Given the description of an element on the screen output the (x, y) to click on. 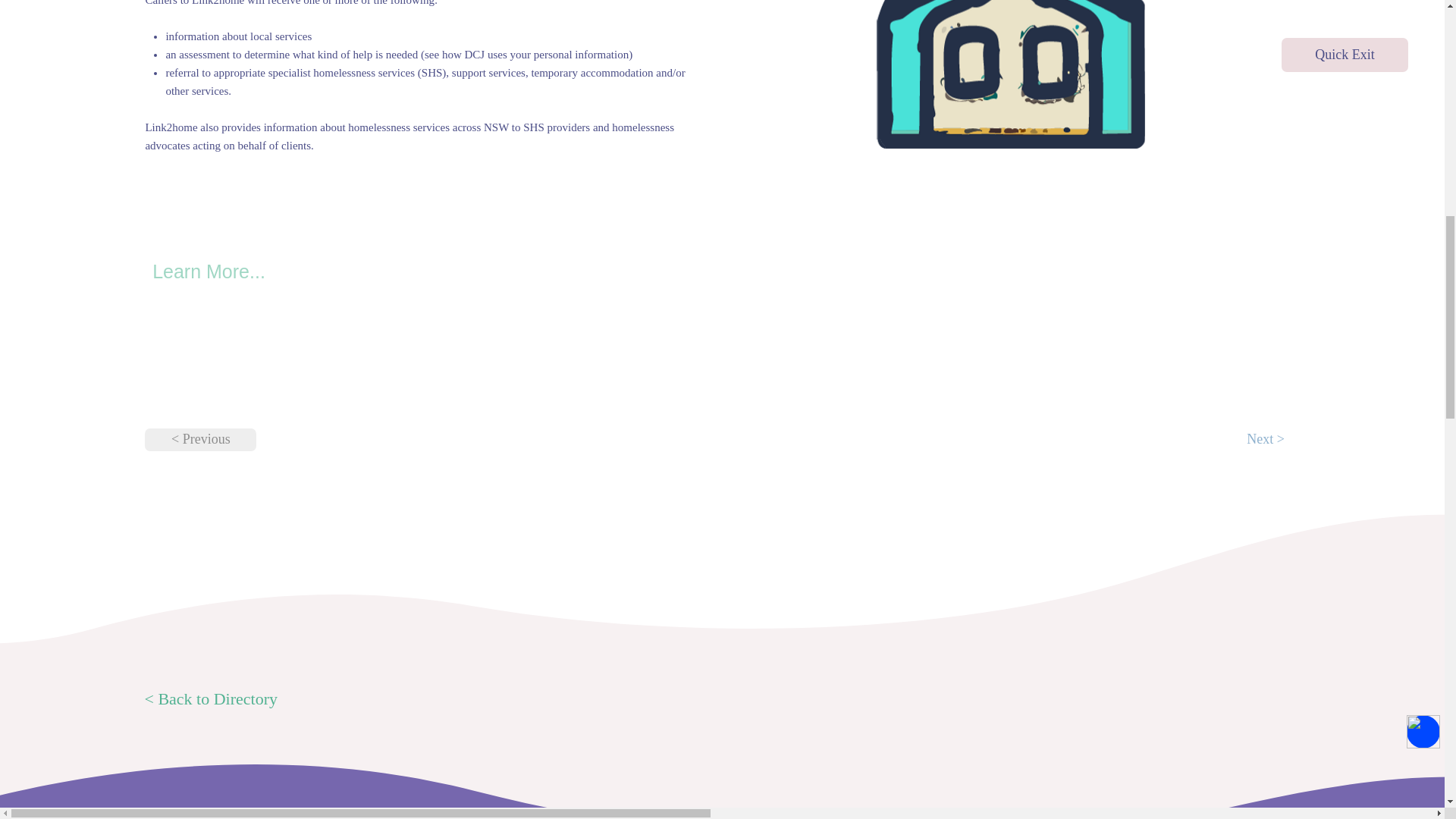
Learn More... (208, 271)
